Given the description of an element on the screen output the (x, y) to click on. 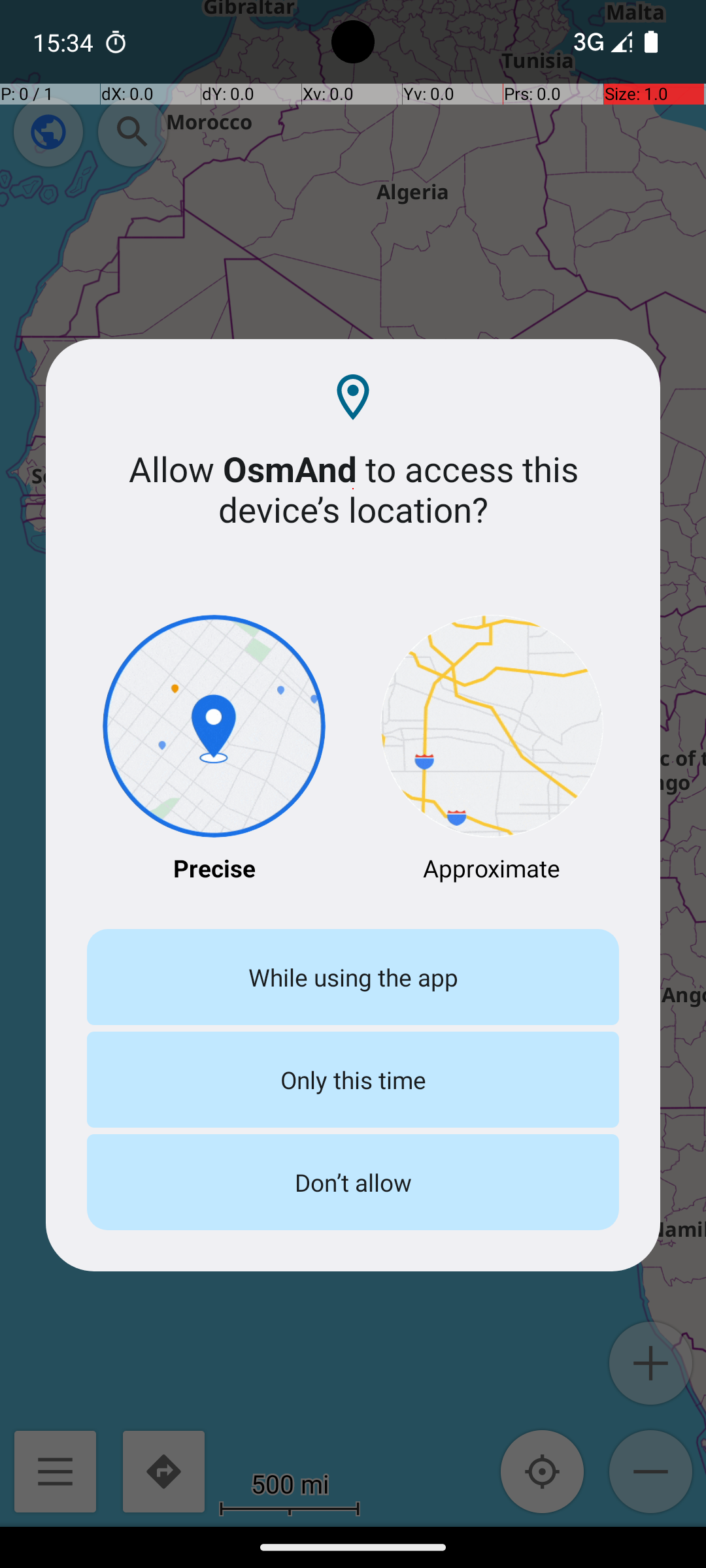
Allow OsmAnd to access this device’s location? Element type: android.widget.TextView (352, 488)
While using the app Element type: android.widget.Button (352, 977)
Only this time Element type: android.widget.Button (352, 1079)
Precise Element type: android.widget.RadioButton (213, 749)
Approximate Element type: android.widget.RadioButton (491, 749)
